Given the description of an element on the screen output the (x, y) to click on. 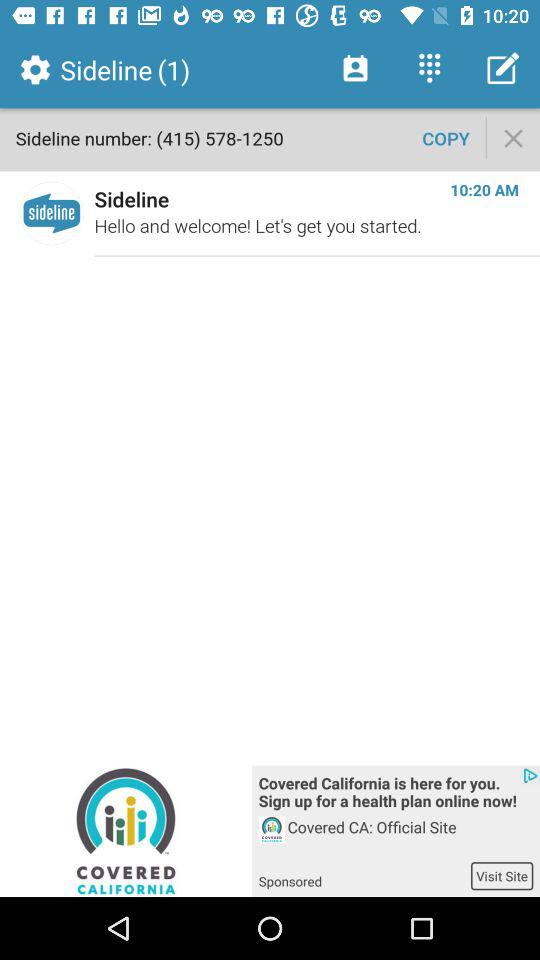
choose icon to the left of visit site icon (364, 875)
